Given the description of an element on the screen output the (x, y) to click on. 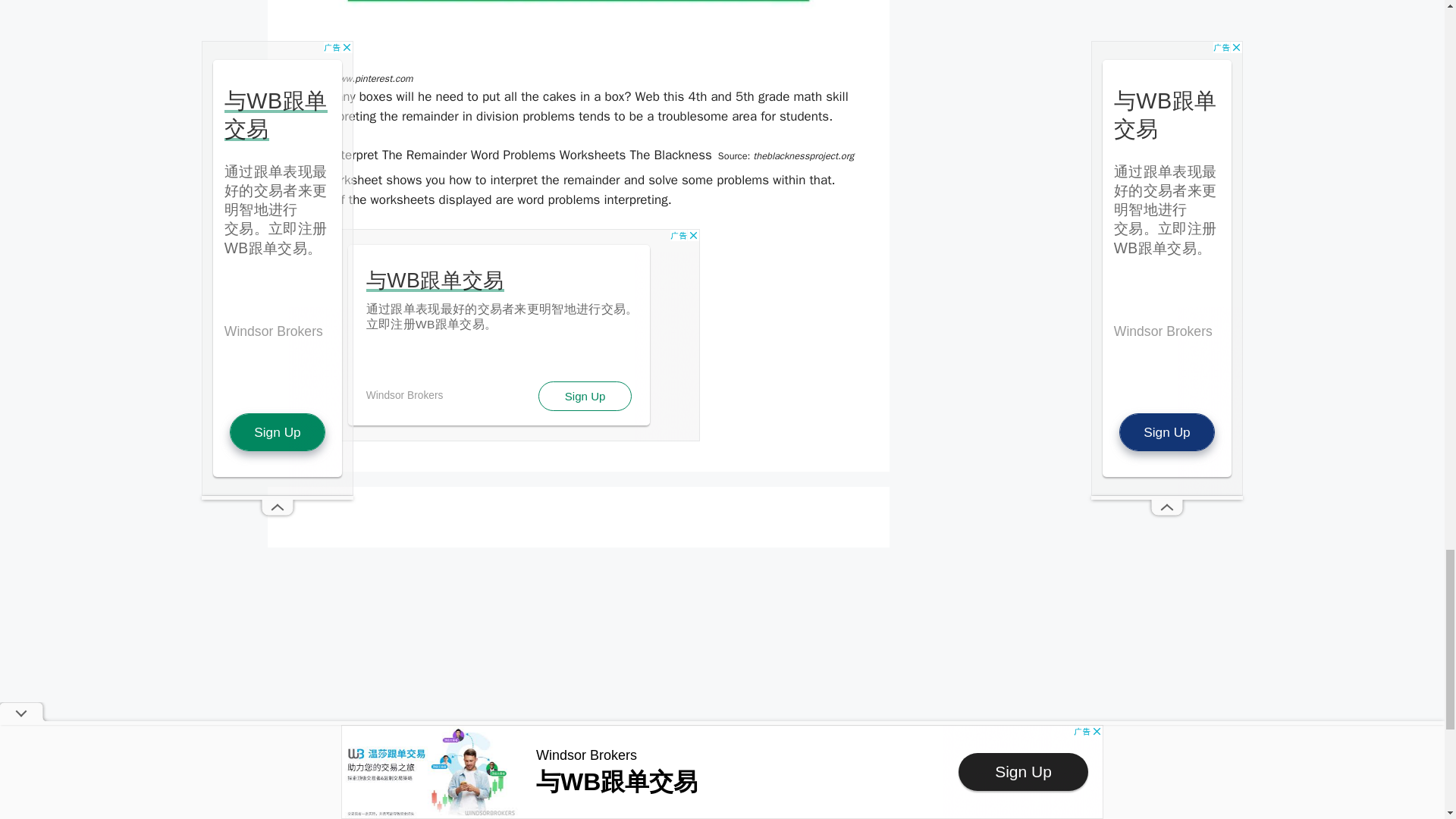
Advertisement (497, 335)
